Given the description of an element on the screen output the (x, y) to click on. 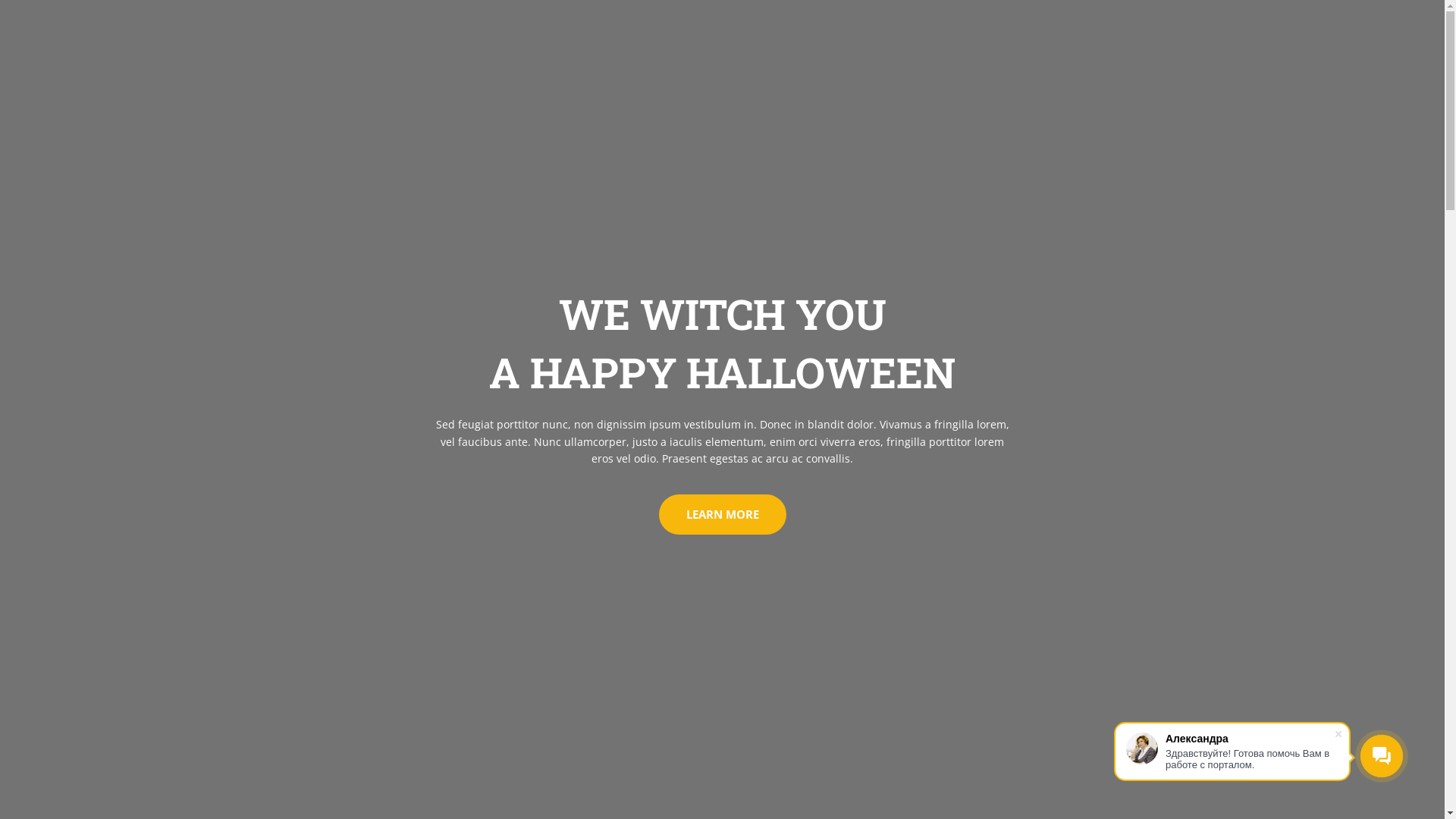
LEARN MORE Element type: text (721, 514)
